Given the description of an element on the screen output the (x, y) to click on. 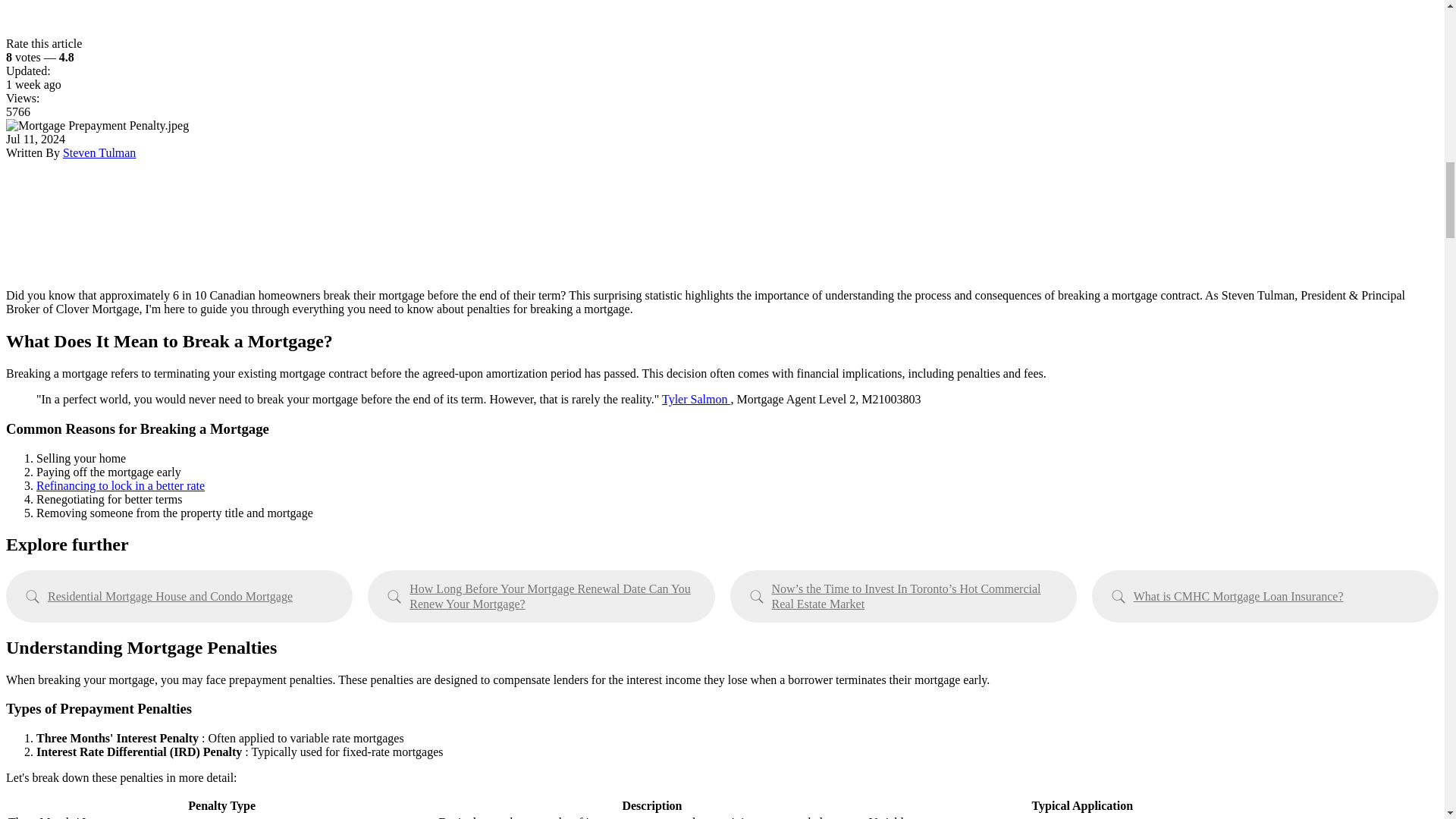
Refinancing to lock in a better rate (120, 485)
Residential Mortgage House and Condo Mortgage (178, 595)
Steven Tulman (98, 152)
Tyler Salmon (696, 399)
